Given the description of an element on the screen output the (x, y) to click on. 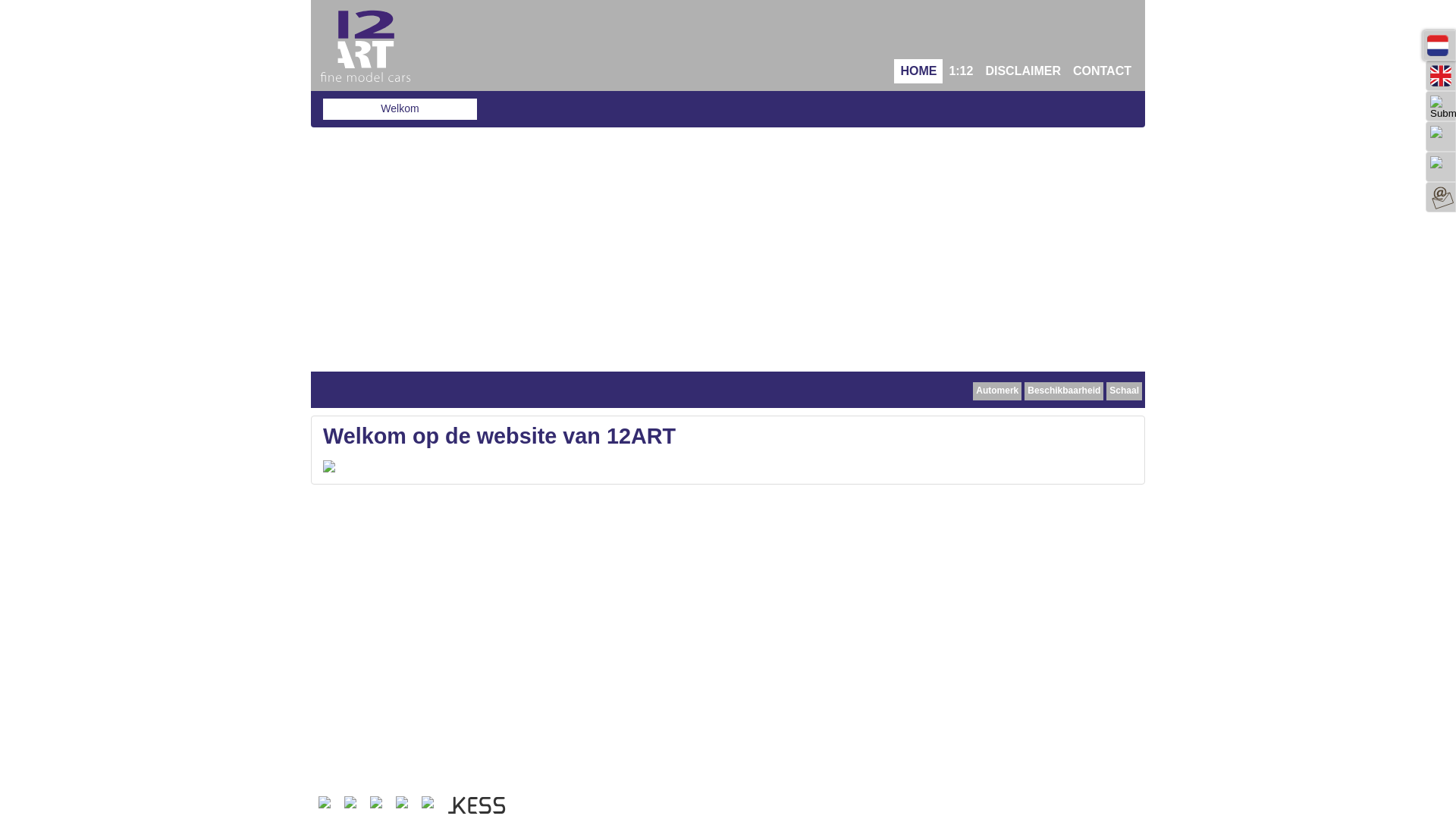
Automerk Element type: text (996, 391)
CONTACT Element type: text (1101, 71)
HOME Element type: text (918, 71)
Welkom Element type: text (399, 108)
Schaal Element type: text (1124, 391)
DISCLAIMER Element type: text (1022, 71)
1:12 Element type: text (960, 71)
Beschikbaarheid Element type: text (1063, 391)
